Given the description of an element on the screen output the (x, y) to click on. 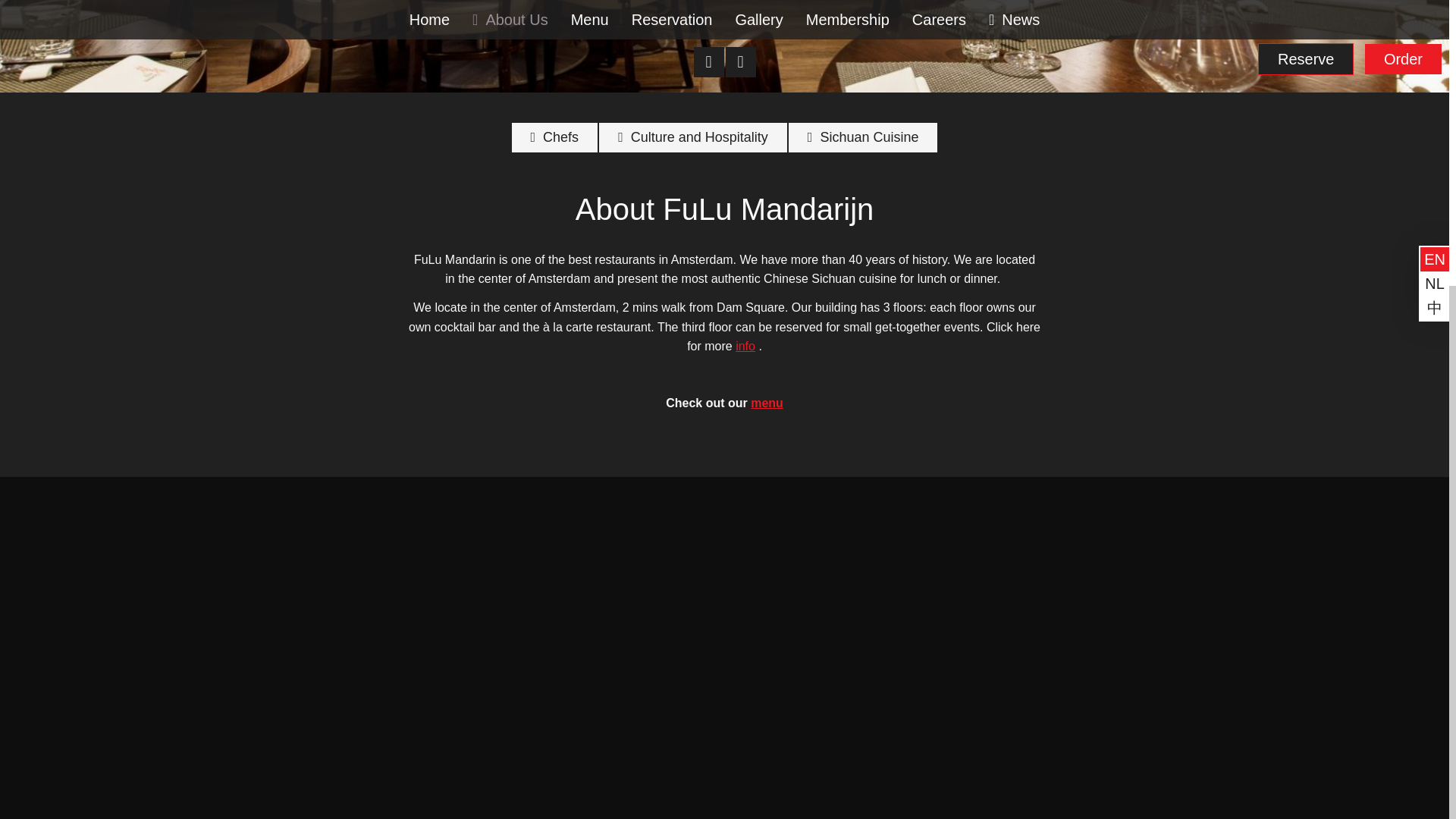
Sichuan Cuisine (863, 137)
Chefs (555, 137)
Culture and Hospitality (692, 137)
menu (767, 402)
info (745, 345)
